Given the description of an element on the screen output the (x, y) to click on. 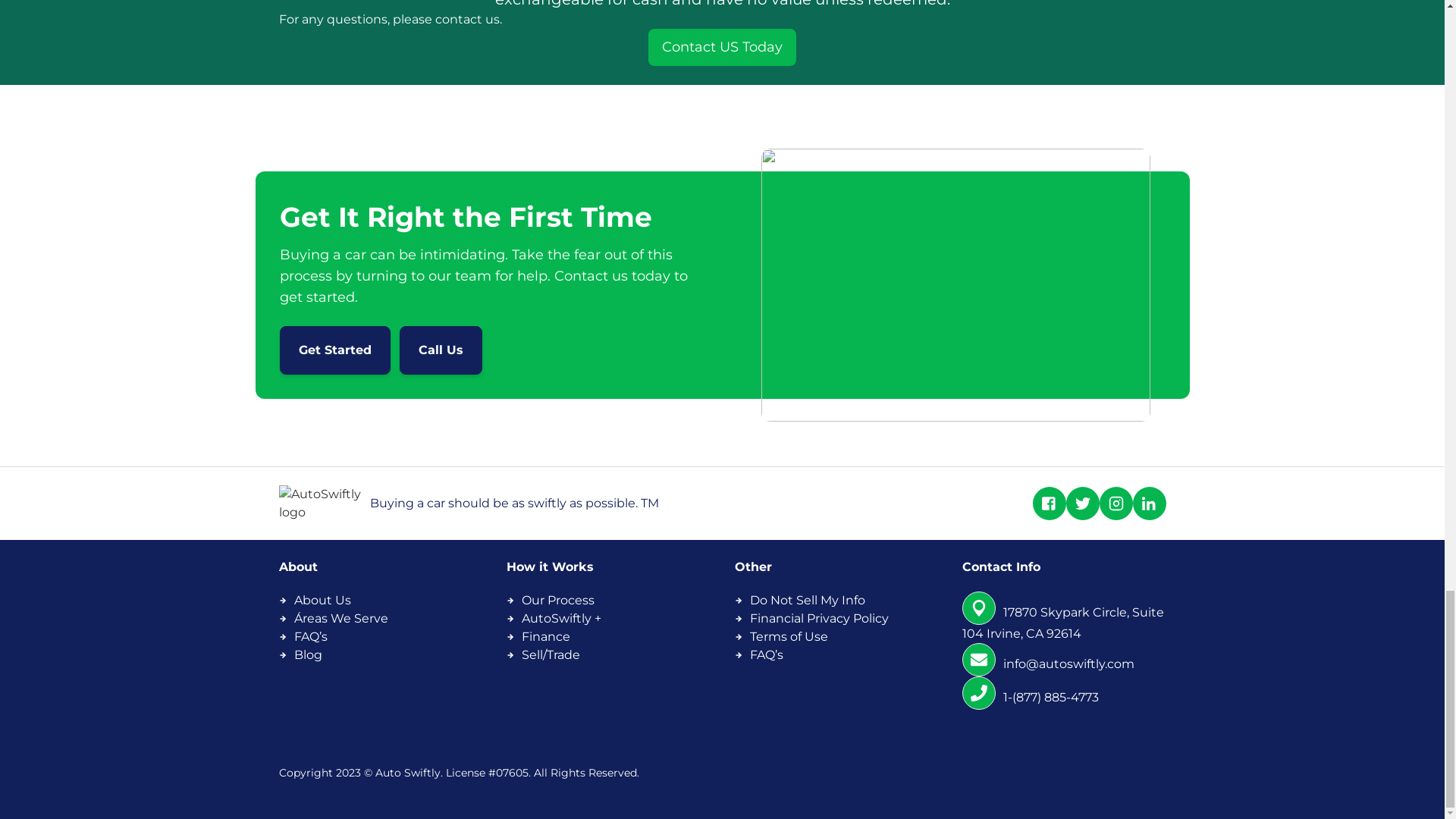
Call Us (439, 349)
About Us (322, 599)
Contact US Today (721, 47)
Our Process (557, 599)
Get Started (334, 349)
Blog (307, 654)
